Given the description of an element on the screen output the (x, y) to click on. 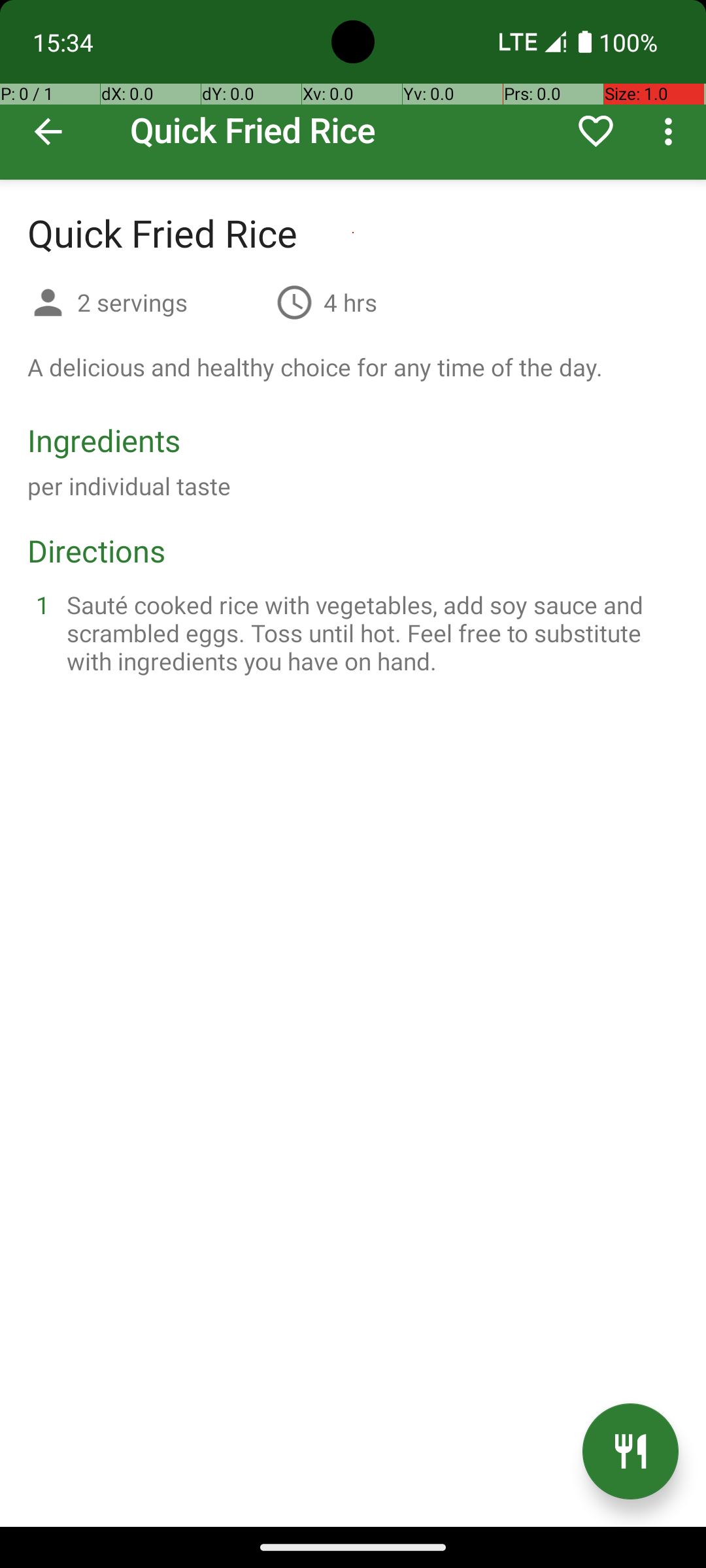
Sauté cooked rice with vegetables, add soy sauce and scrambled eggs. Toss until hot. Feel free to substitute with ingredients you have on hand. Element type: android.widget.TextView (368, 632)
